Given the description of an element on the screen output the (x, y) to click on. 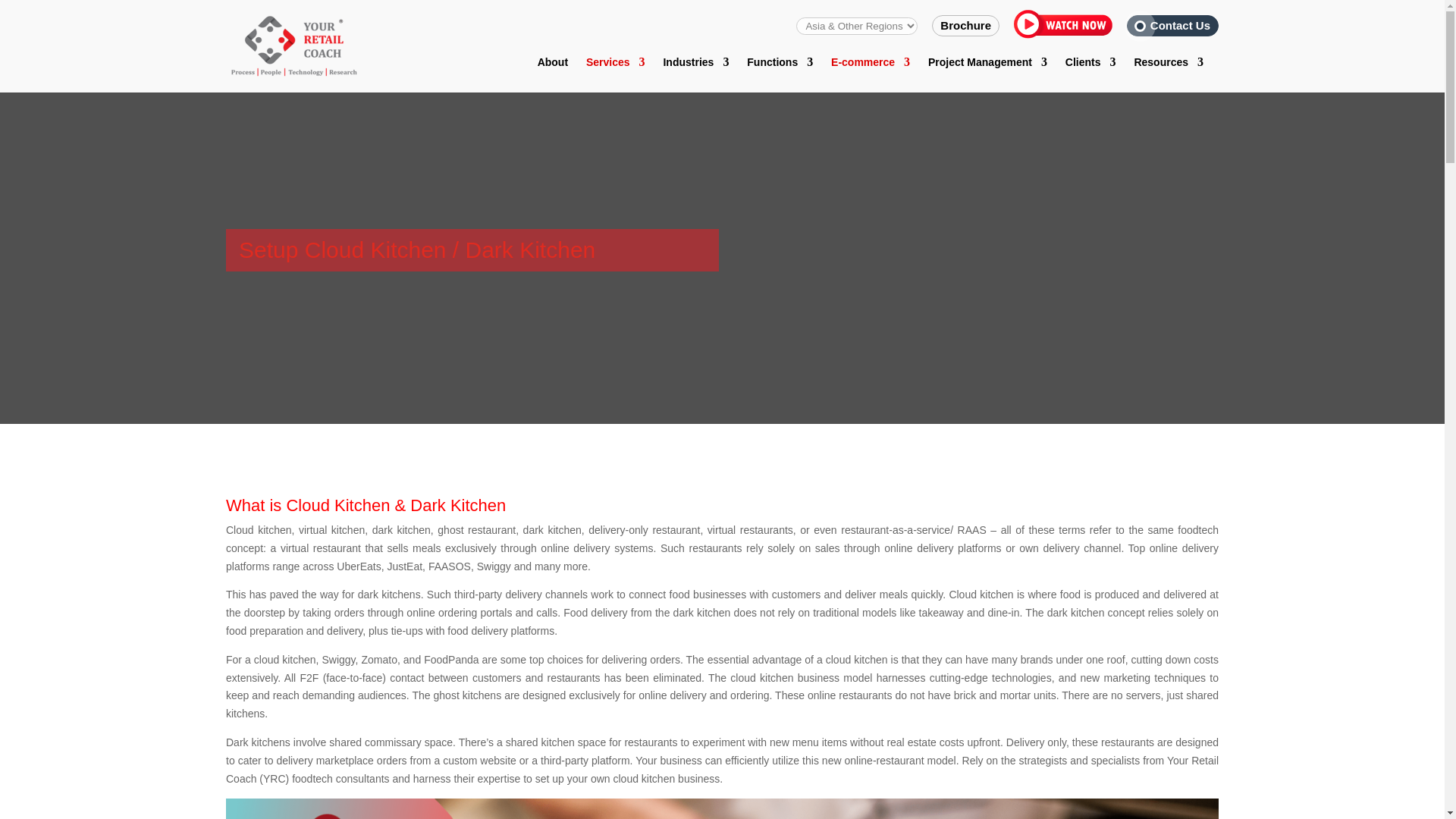
Contact Us (1179, 25)
Brochure (965, 25)
Services (615, 74)
